Given the description of an element on the screen output the (x, y) to click on. 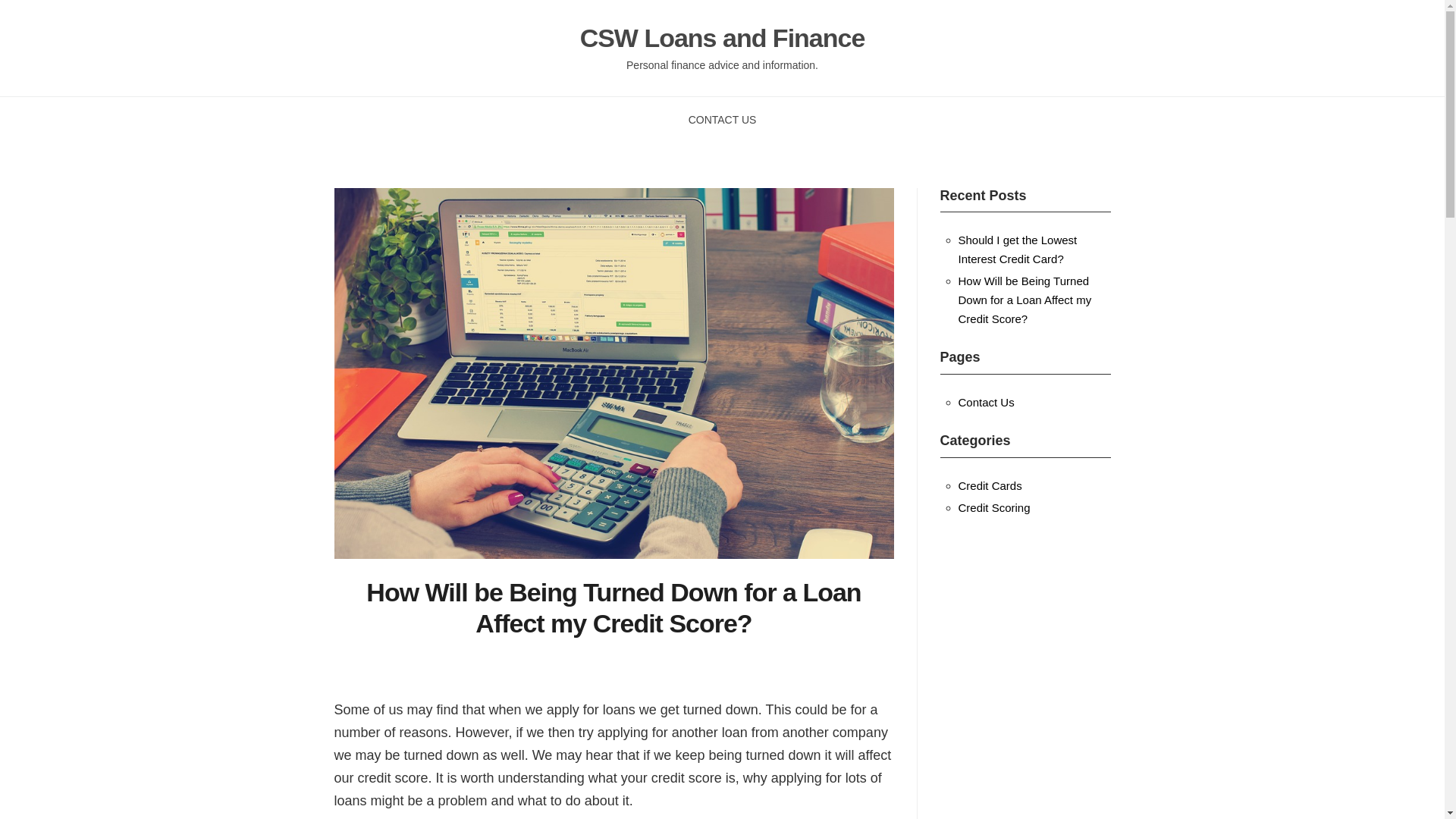
Should I get the Lowest Interest Credit Card? (1017, 249)
CONTACT US (722, 119)
Credit Cards (990, 485)
Contact Us (986, 401)
CSW Loans and Finance (721, 38)
Credit Scoring (994, 507)
